Given the description of an element on the screen output the (x, y) to click on. 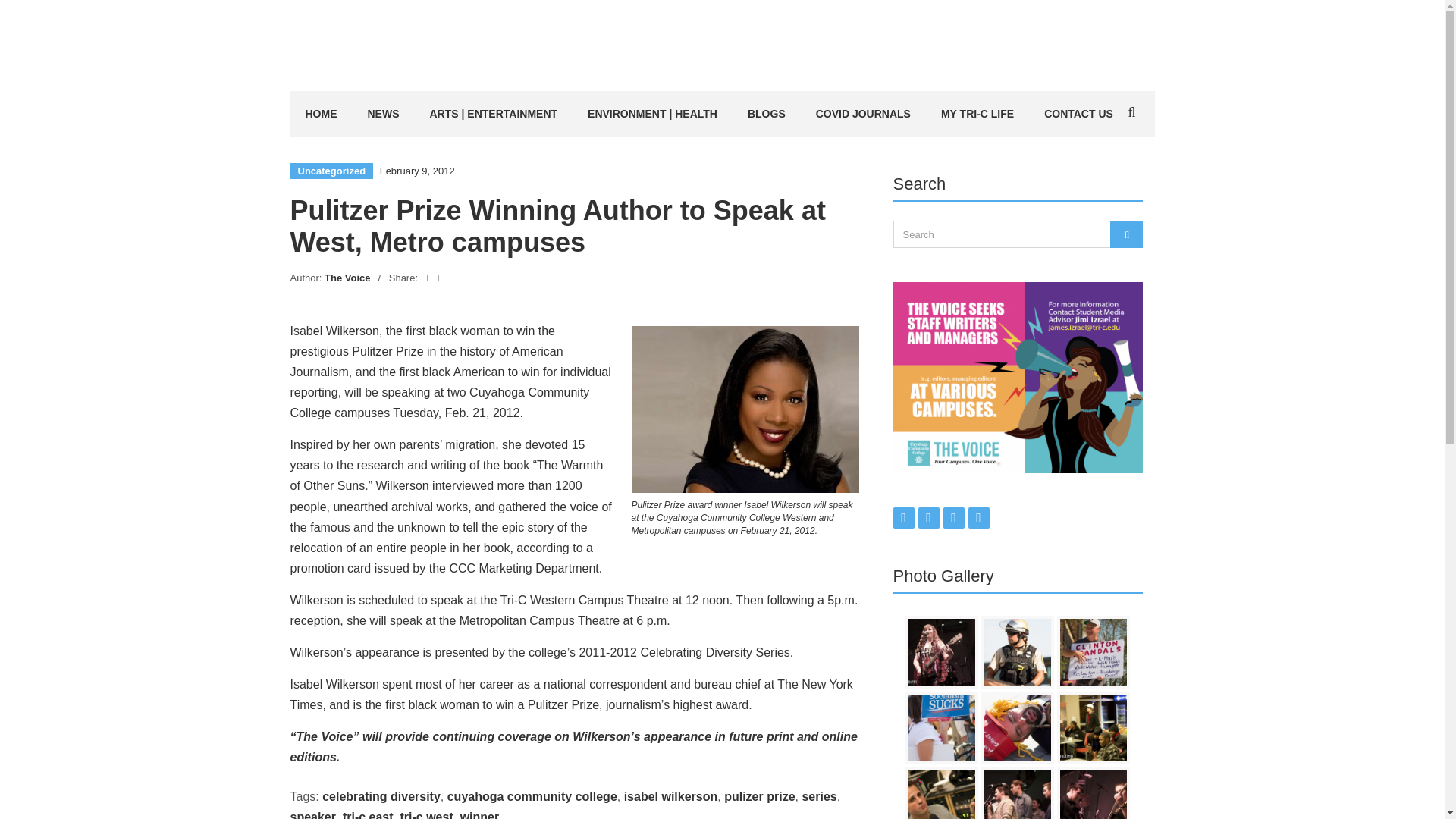
speaker (312, 814)
cuyahoga community college (531, 796)
winner (479, 814)
CONTACT US (1078, 113)
BLOGS (766, 113)
pulizer prize (758, 796)
isabel wilkerson (670, 796)
Uncategorized (330, 170)
MY TRI-C LIFE (977, 113)
series (818, 796)
COVID JOURNALS (863, 113)
celebrating diversity (381, 796)
tri-c west (425, 814)
Wilkerson (744, 409)
Posts by The Voice (346, 277)
